Given the description of an element on the screen output the (x, y) to click on. 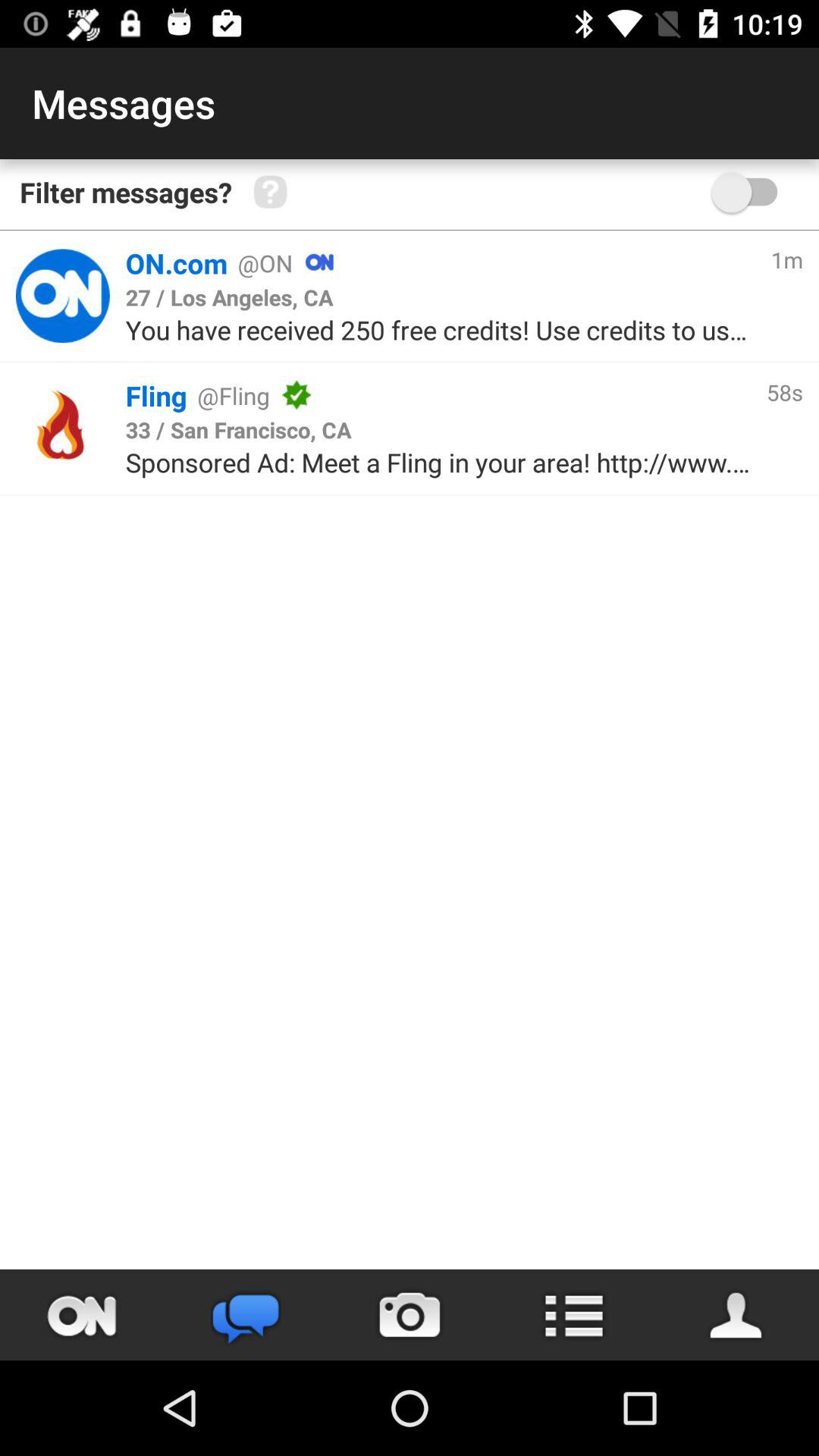
choose the item above you have received icon (229, 297)
